Given the description of an element on the screen output the (x, y) to click on. 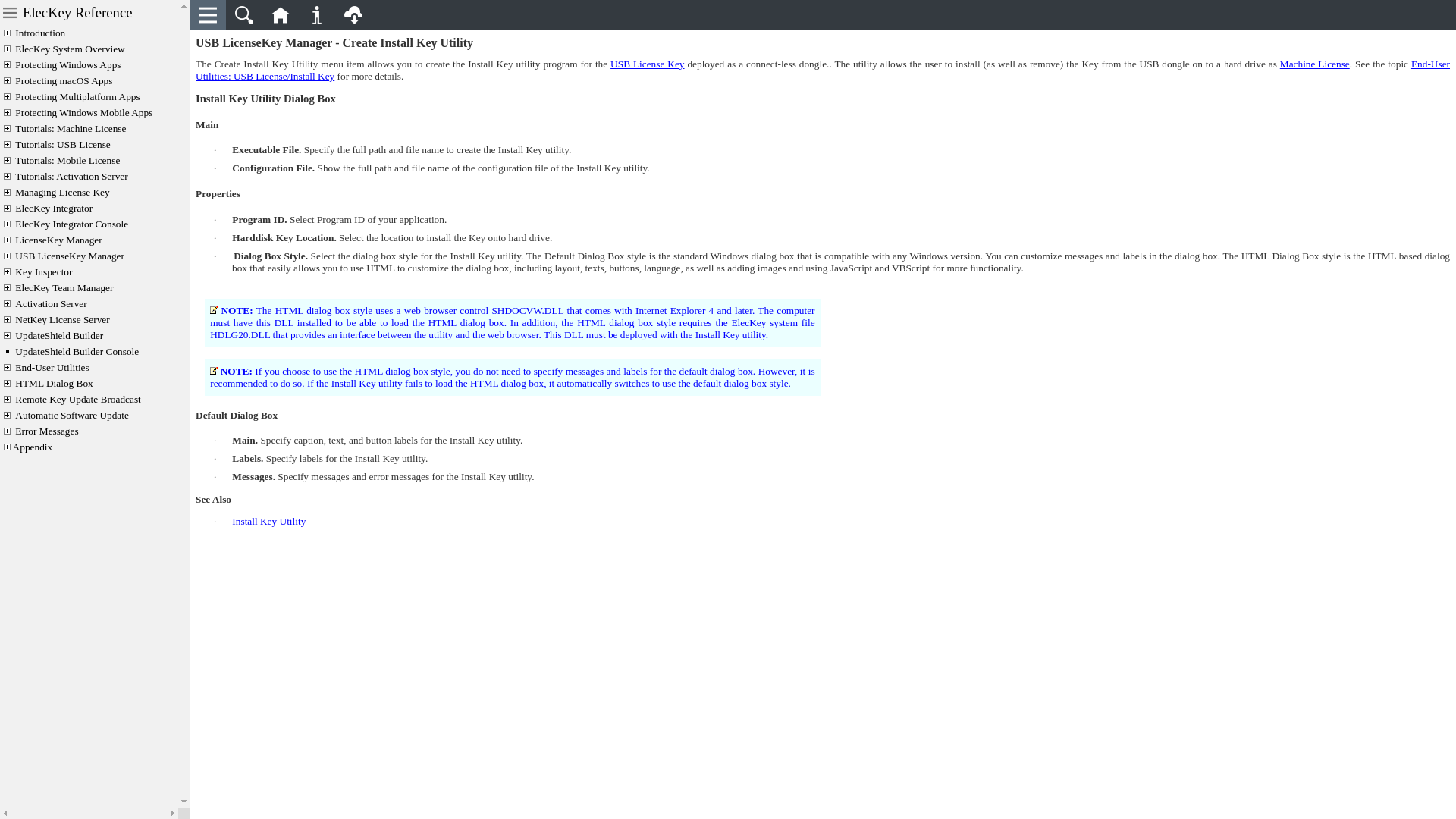
ElecKey System Overview (69, 48)
Introduction (39, 32)
